Given the description of an element on the screen output the (x, y) to click on. 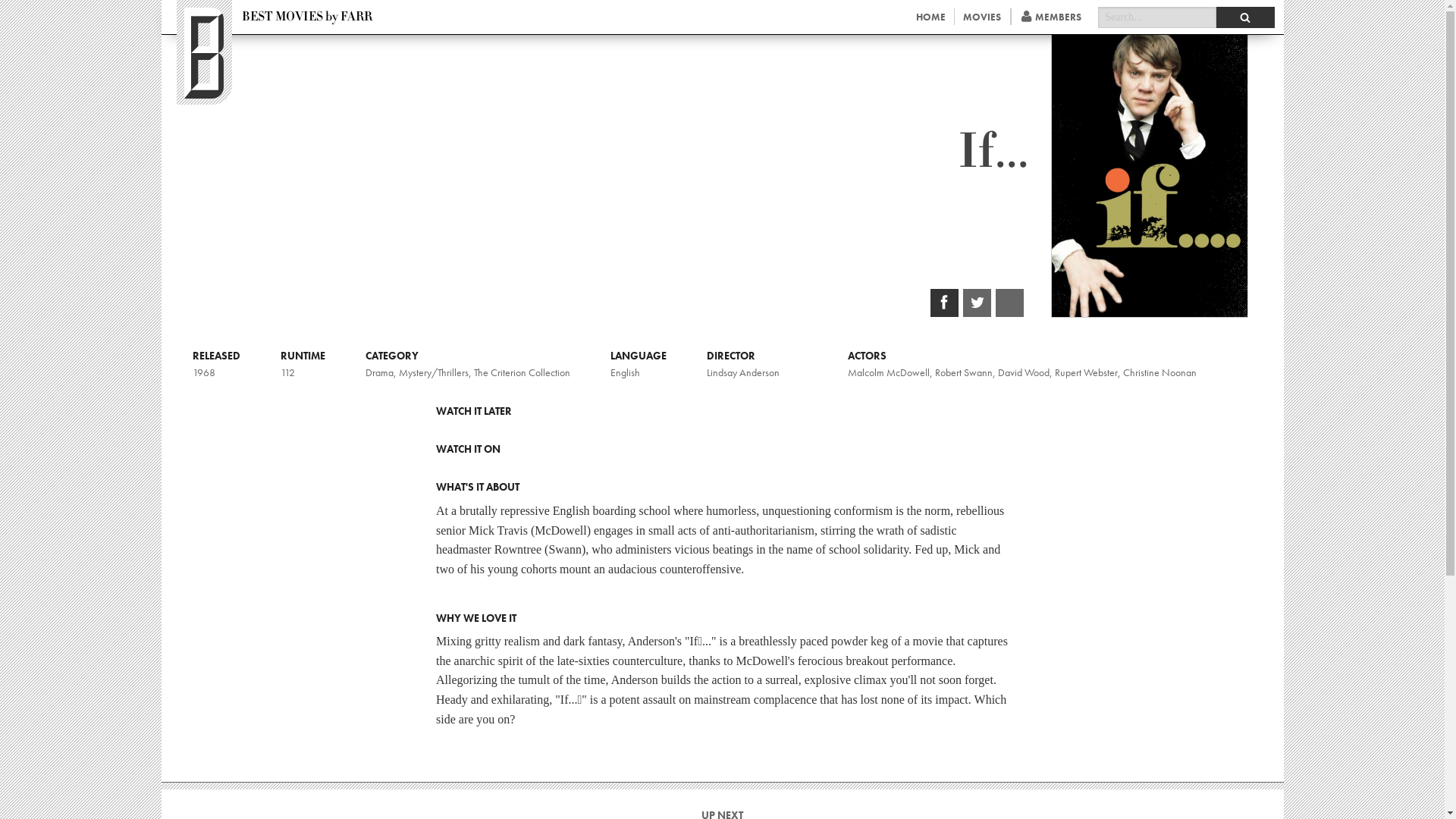
David Wood (1023, 372)
Lindsay Anderson (742, 372)
Rupert Webster (1085, 372)
HOME (930, 17)
The Criterion Collection (521, 372)
Christine Noonan (1158, 372)
Malcolm McDowell (888, 372)
MEMBERS (1050, 17)
Drama (379, 372)
English (624, 372)
